Given the description of an element on the screen output the (x, y) to click on. 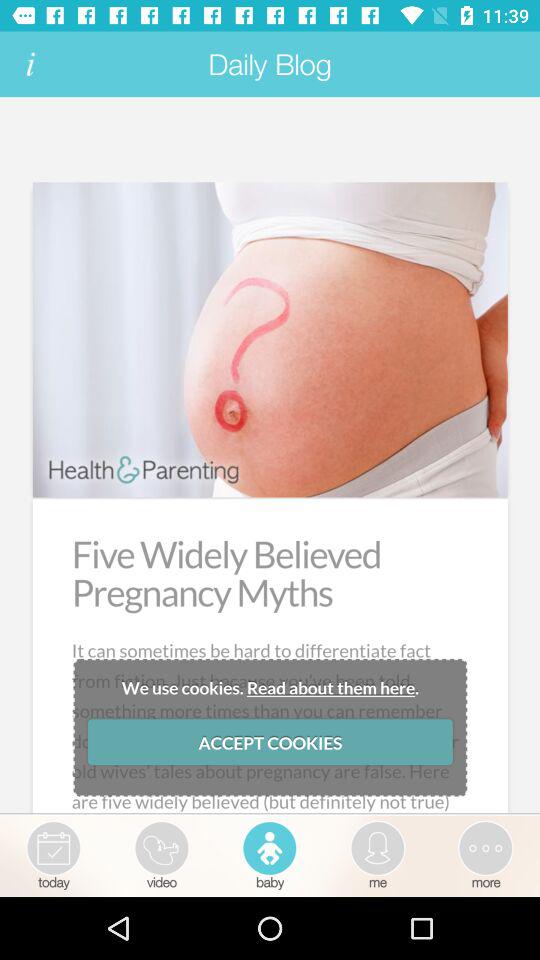
read term and condition (30, 63)
